Given the description of an element on the screen output the (x, y) to click on. 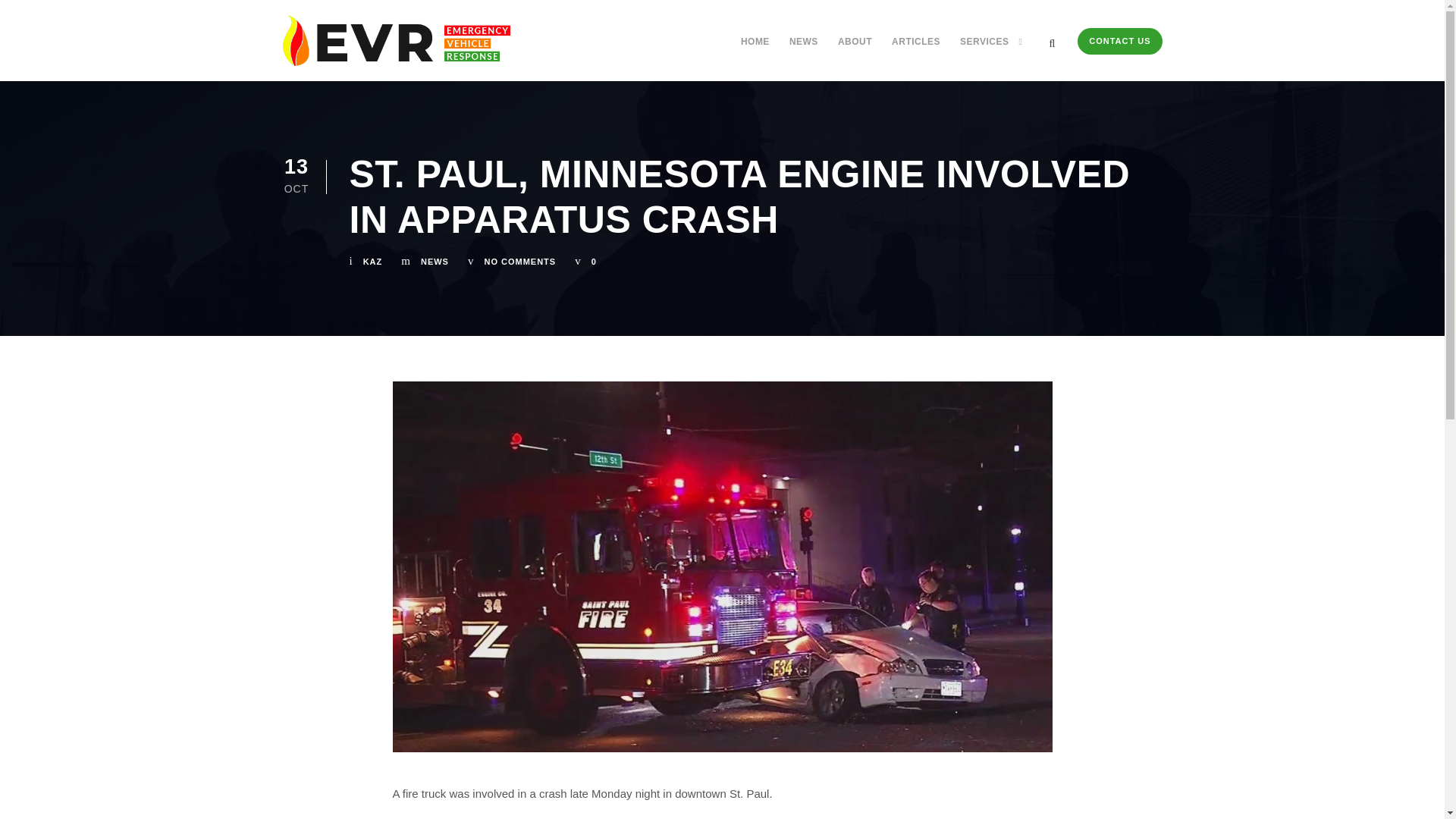
KAZ (372, 261)
logo (395, 40)
ABOUT (855, 49)
NEWS (803, 49)
SERVICES (990, 49)
NO COMMENTS (519, 261)
Posts by kaz (372, 261)
NEWS (434, 261)
HOME (755, 49)
ARTICLES (915, 49)
CONTACT US (1119, 40)
